Given the description of an element on the screen output the (x, y) to click on. 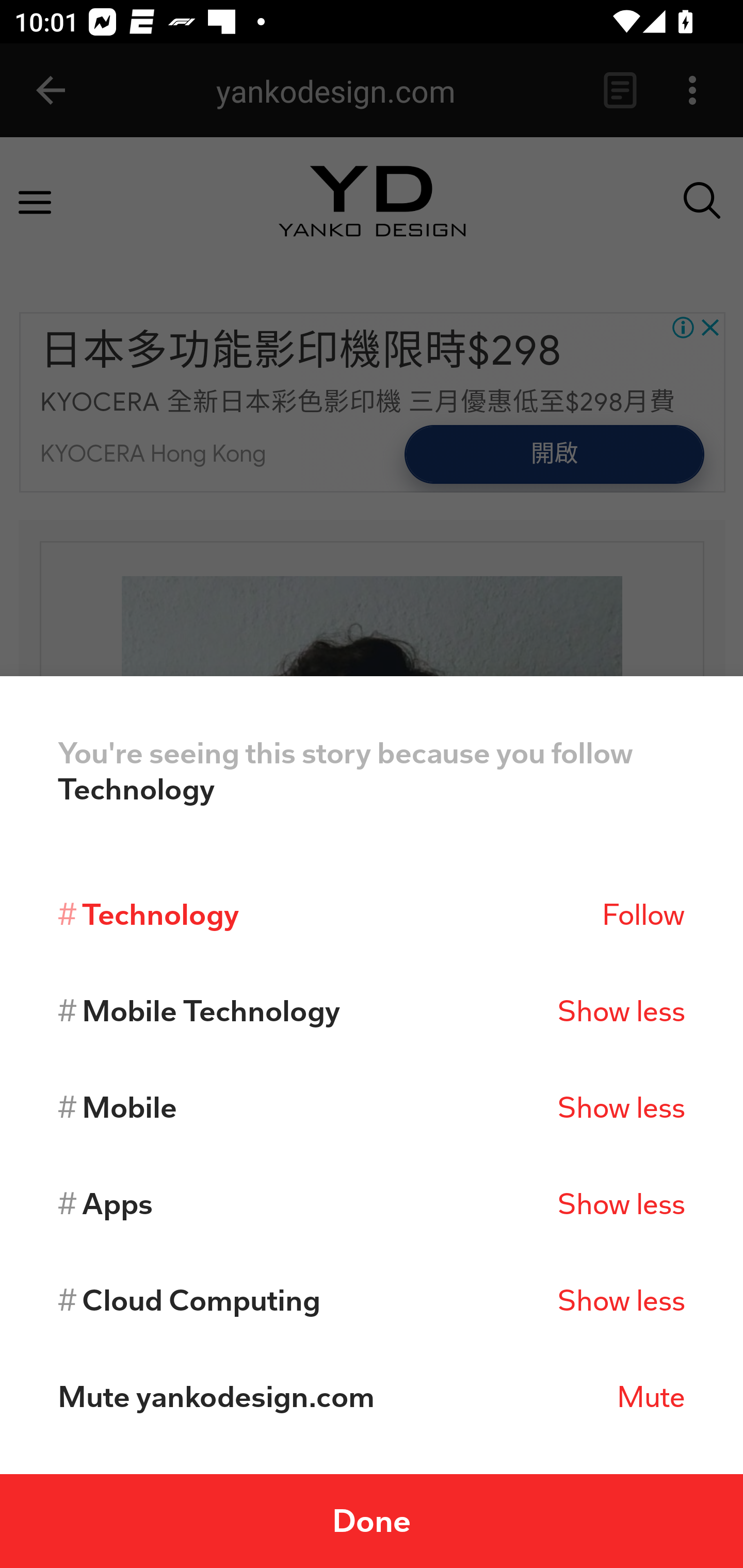
Follow (643, 914)
Show less (621, 1011)
Show less (621, 1107)
Show less (621, 1204)
Show less (621, 1300)
Mute (651, 1396)
Done (371, 1520)
